Given the description of an element on the screen output the (x, y) to click on. 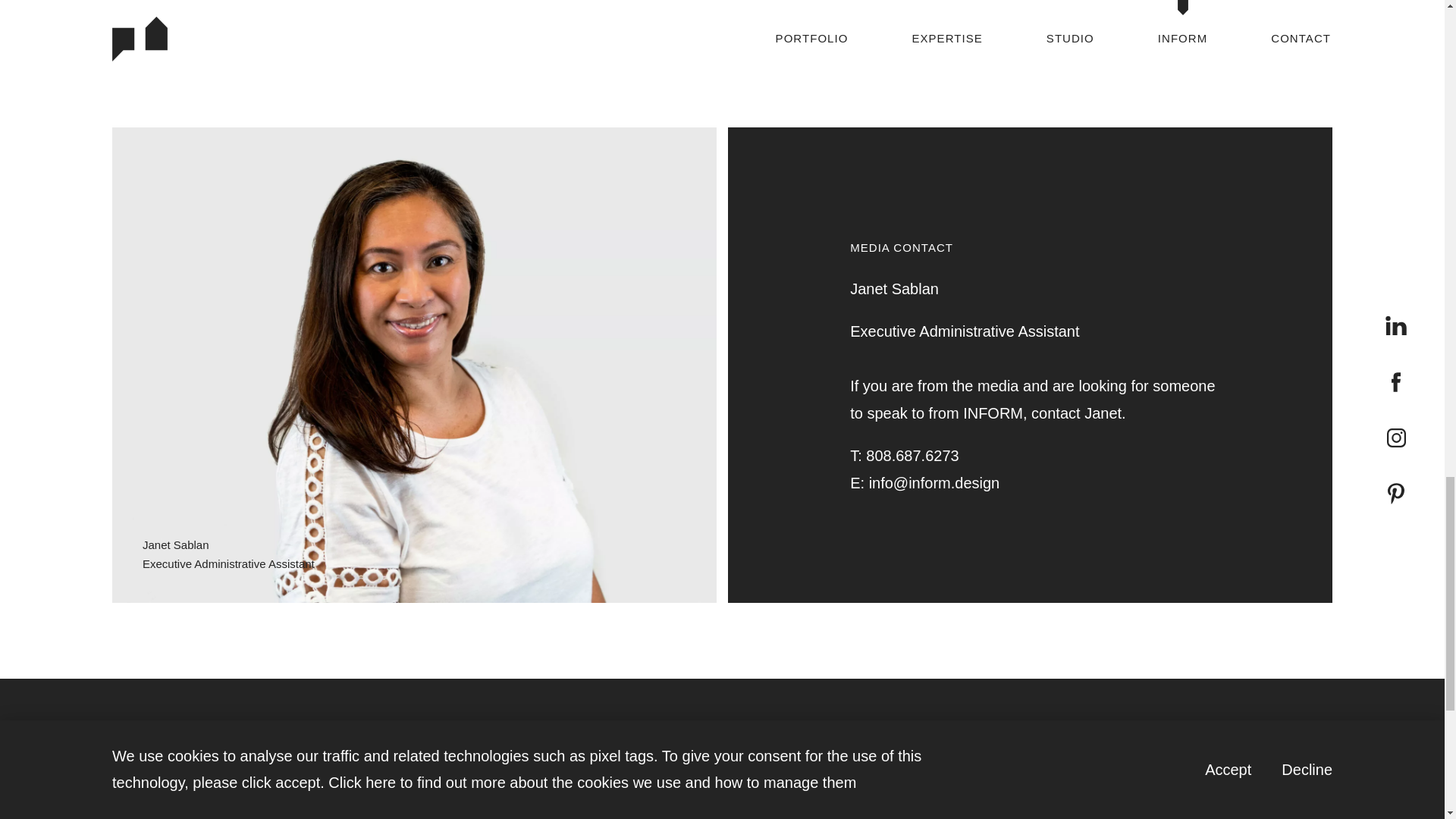
T: 808.687.6273 (1038, 455)
